Given the description of an element on the screen output the (x, y) to click on. 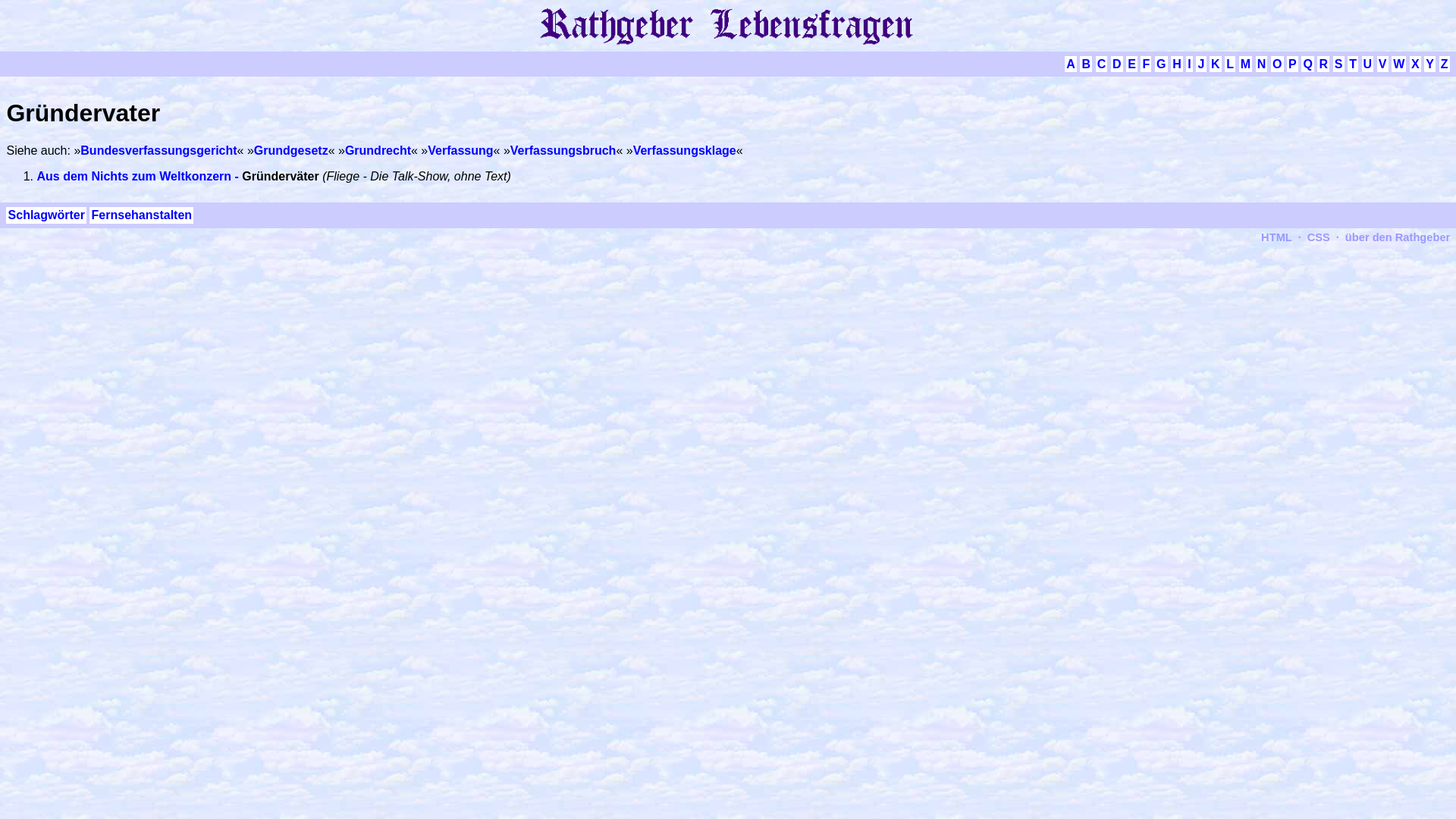
K Element type: text (1215, 64)
Verfassung Element type: text (459, 150)
Y Element type: text (1429, 64)
L Element type: text (1229, 64)
J Element type: text (1200, 64)
Verfassungsklage Element type: text (684, 150)
Z Element type: text (1444, 64)
CSS Element type: text (1318, 237)
V Element type: text (1382, 64)
O Element type: text (1276, 64)
X Element type: text (1415, 64)
I Element type: text (1189, 64)
B Element type: text (1085, 64)
Verfassungsbruch Element type: text (563, 150)
D Element type: text (1116, 64)
U Element type: text (1367, 64)
W Element type: text (1398, 64)
Grundgesetz Element type: text (291, 150)
Q Element type: text (1307, 64)
Bundesverfassungsgericht Element type: text (158, 150)
R Element type: text (1323, 64)
Grundrecht Element type: text (378, 150)
N Element type: text (1261, 64)
T Element type: text (1352, 64)
A Element type: text (1070, 64)
P Element type: text (1292, 64)
Fernsehanstalten Element type: text (141, 214)
HTML Element type: text (1276, 237)
M Element type: text (1245, 64)
F Element type: text (1145, 64)
S Element type: text (1338, 64)
H Element type: text (1176, 64)
C Element type: text (1101, 64)
E Element type: text (1131, 64)
G Element type: text (1160, 64)
